Given the description of an element on the screen output the (x, y) to click on. 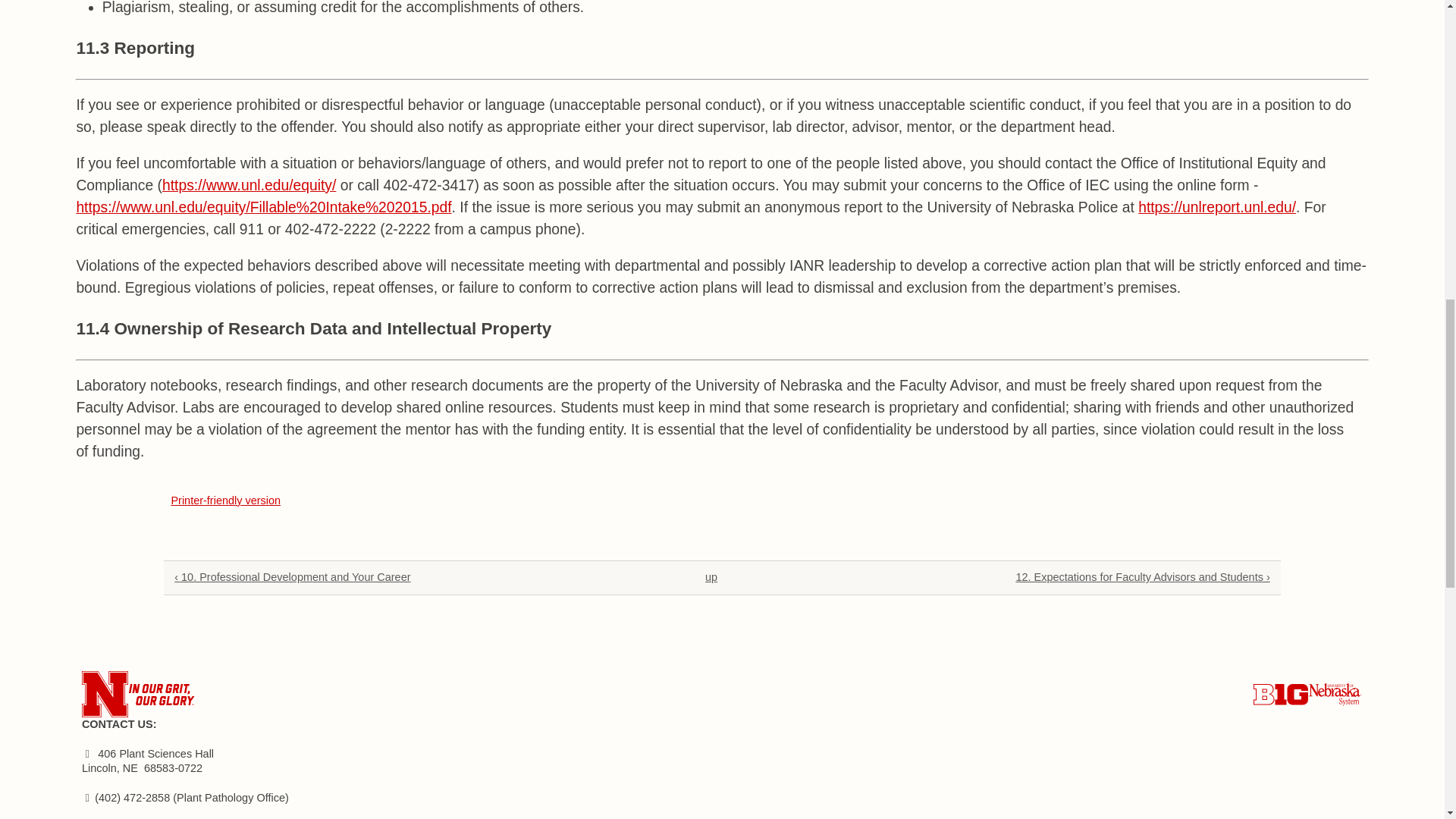
Go to previous page (404, 577)
Go to next page (1039, 577)
Go to parent page (710, 577)
